Given the description of an element on the screen output the (x, y) to click on. 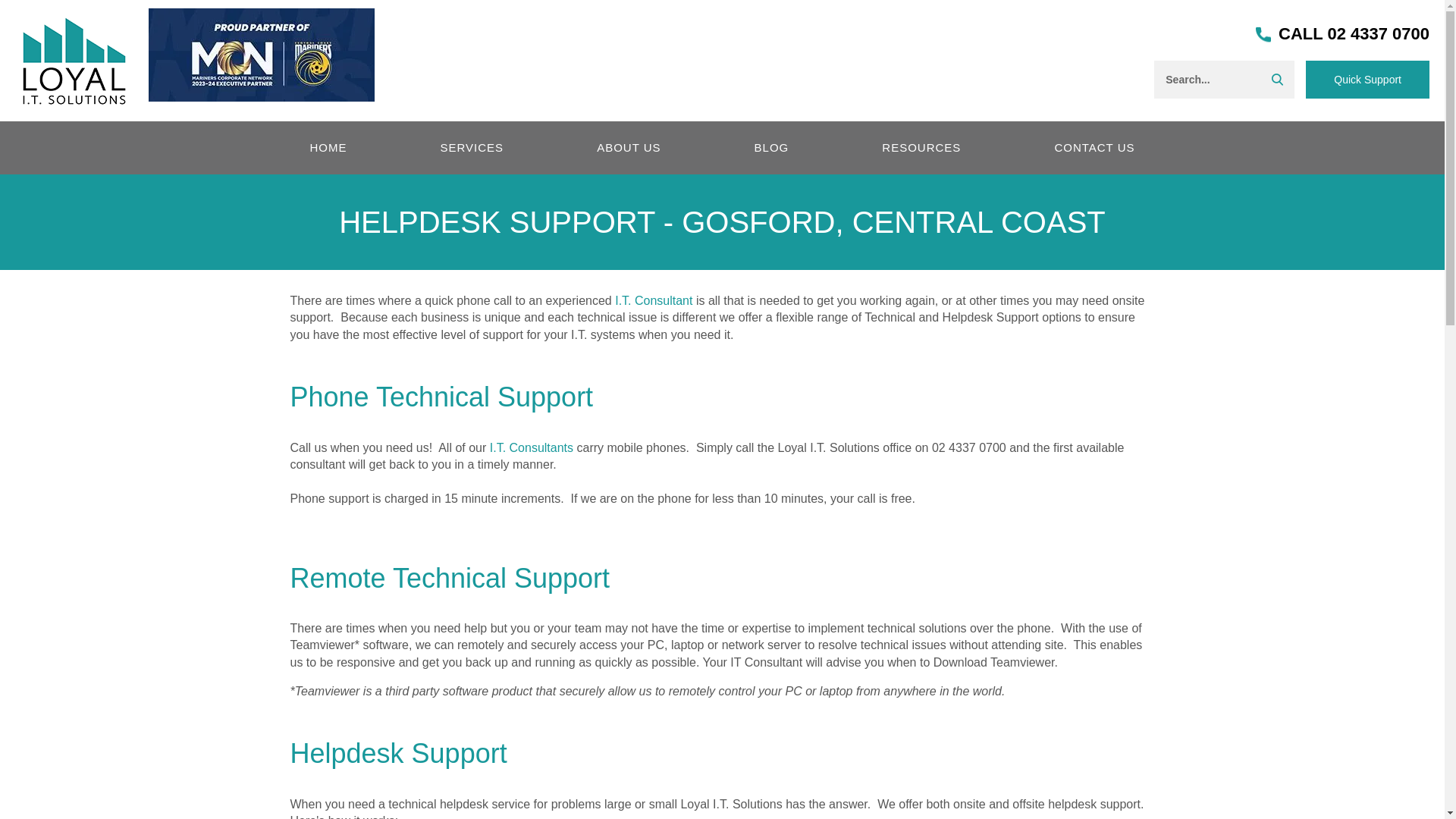
CONTACT US (1094, 147)
Loyal I.T Solutions (74, 59)
BLOG (771, 147)
HOME (328, 147)
SERVICES (472, 147)
Quick Support (1367, 79)
Search... (1218, 79)
ABOUT US (628, 147)
Quick Support (1367, 79)
Search... (1218, 79)
